Given the description of an element on the screen output the (x, y) to click on. 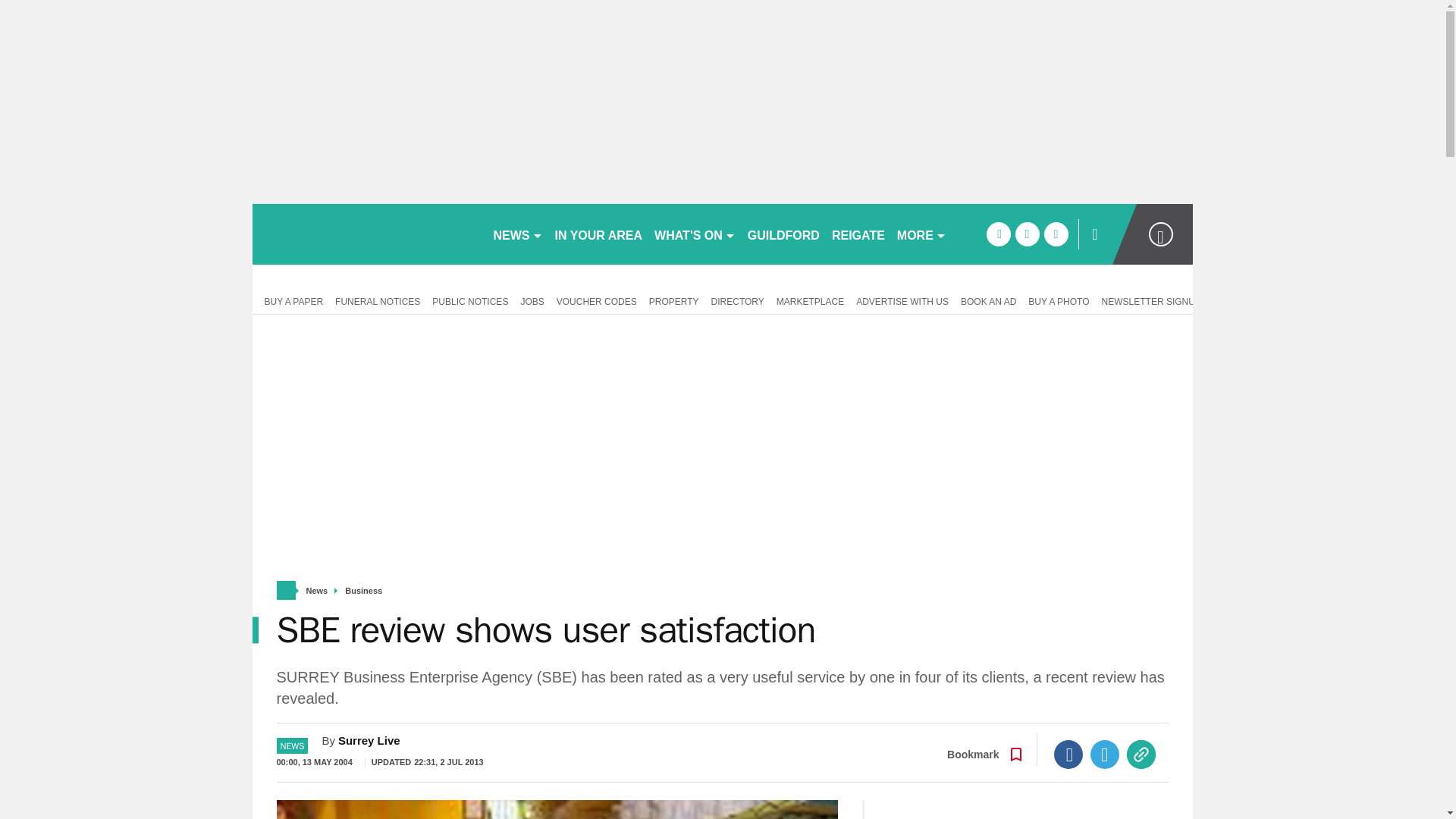
WHAT'S ON (694, 233)
GUILDFORD (783, 233)
REIGATE (858, 233)
getsurrey (365, 233)
facebook (997, 233)
NEWS (517, 233)
VOUCHER CODES (596, 300)
twitter (1026, 233)
IN YOUR AREA (598, 233)
PUBLIC NOTICES (469, 300)
